Given the description of an element on the screen output the (x, y) to click on. 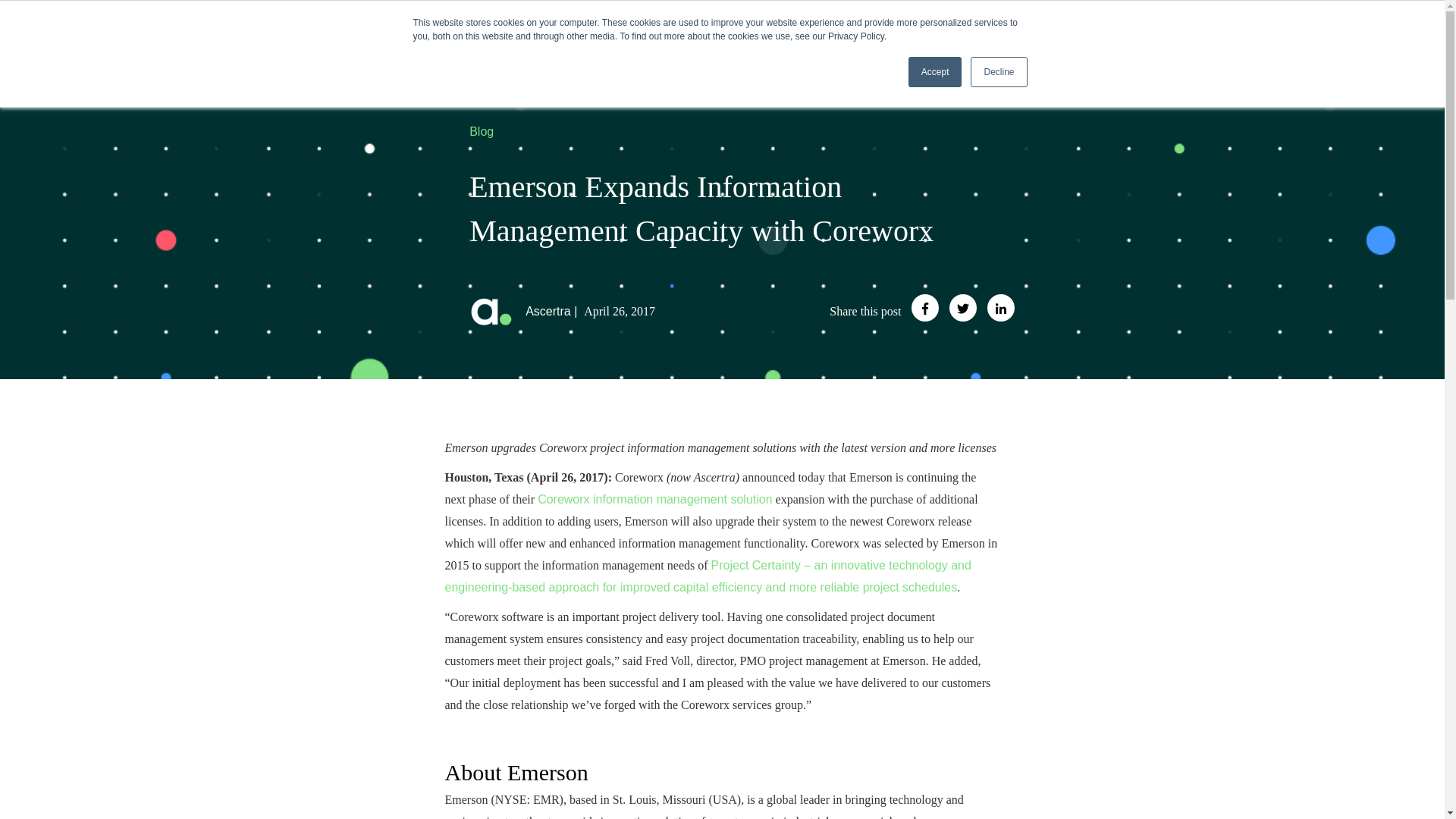
Accept (935, 71)
About (1244, 32)
Request a Demo (1350, 32)
Decline (998, 71)
Coreworx information management solution (654, 499)
Resources (1187, 32)
Request a Demo (1350, 32)
Services (1130, 32)
Products (1076, 32)
